Given the description of an element on the screen output the (x, y) to click on. 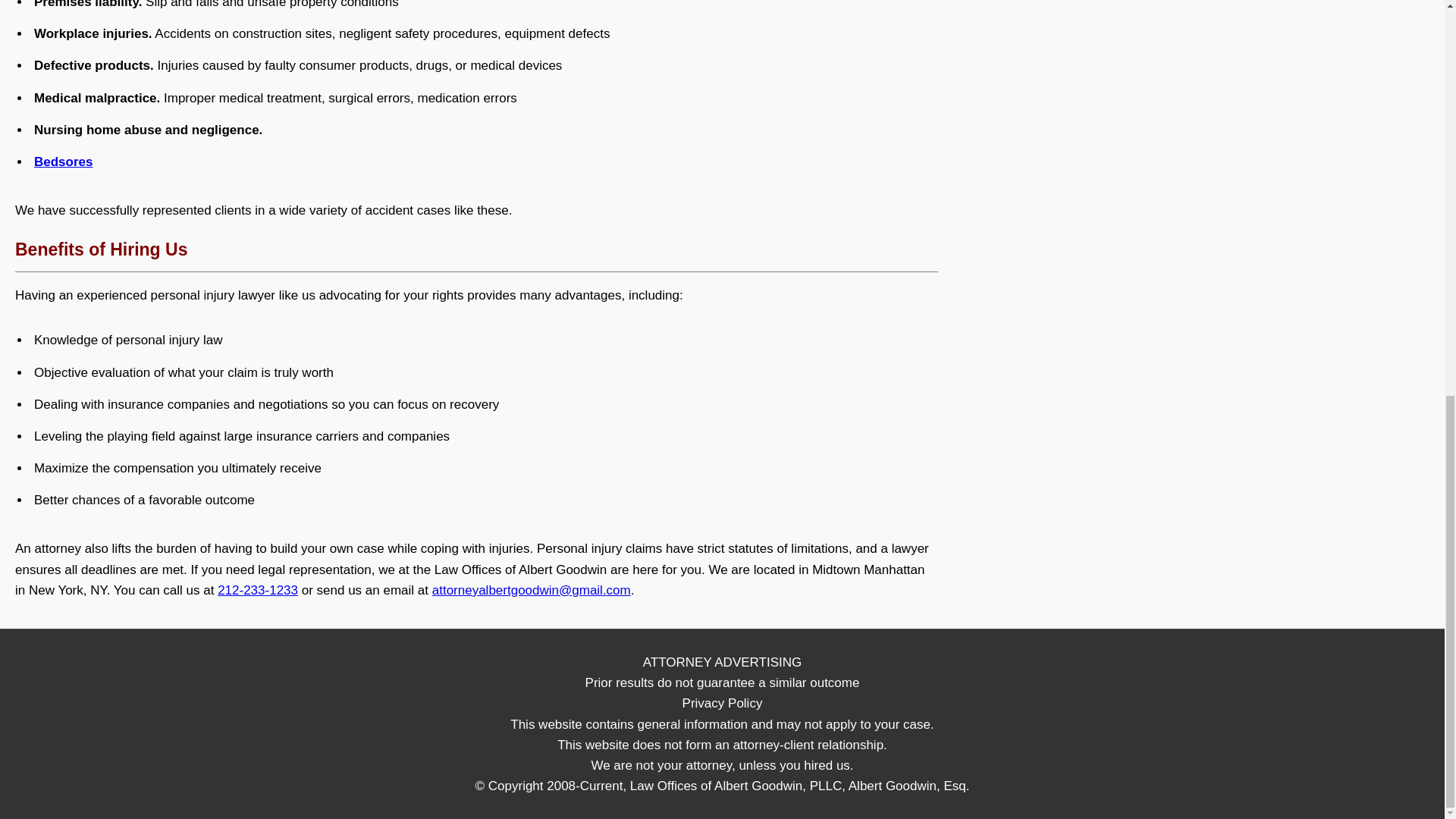
212-233-1233 (257, 590)
Privacy Policy (722, 703)
Bedsores (63, 161)
